Given the description of an element on the screen output the (x, y) to click on. 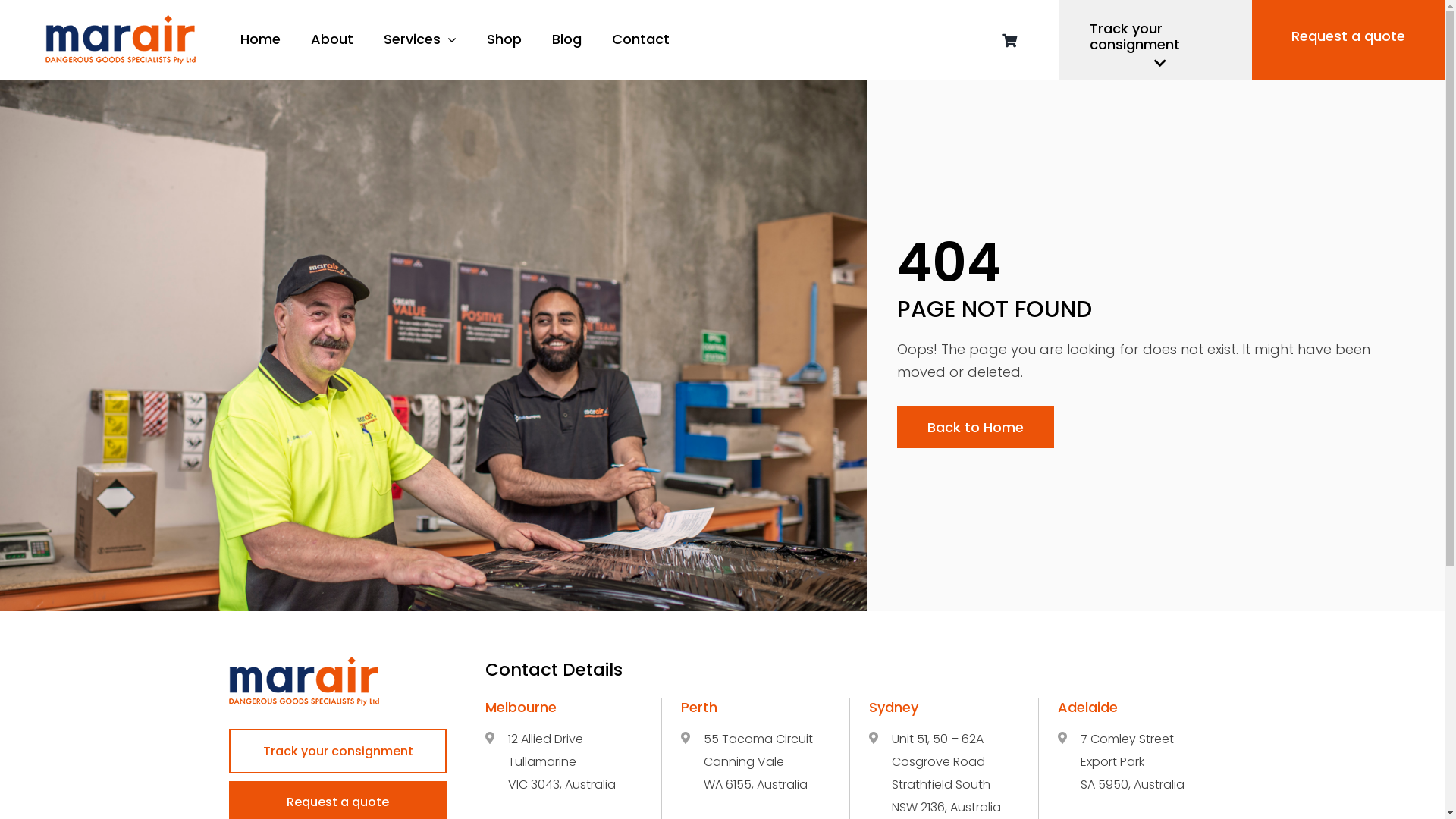
Track your consignment Element type: text (337, 750)
Marair-Dangerous-goods-specialist Element type: hover (304, 681)
Contact Element type: text (640, 39)
Request a quote Element type: text (1348, 39)
About Element type: text (331, 39)
Blog Element type: text (566, 39)
Home Element type: text (260, 39)
Shop Element type: text (503, 39)
Services Element type: text (419, 39)
Back to Home Element type: text (975, 427)
Track your consignment Element type: text (1155, 39)
